Given the description of an element on the screen output the (x, y) to click on. 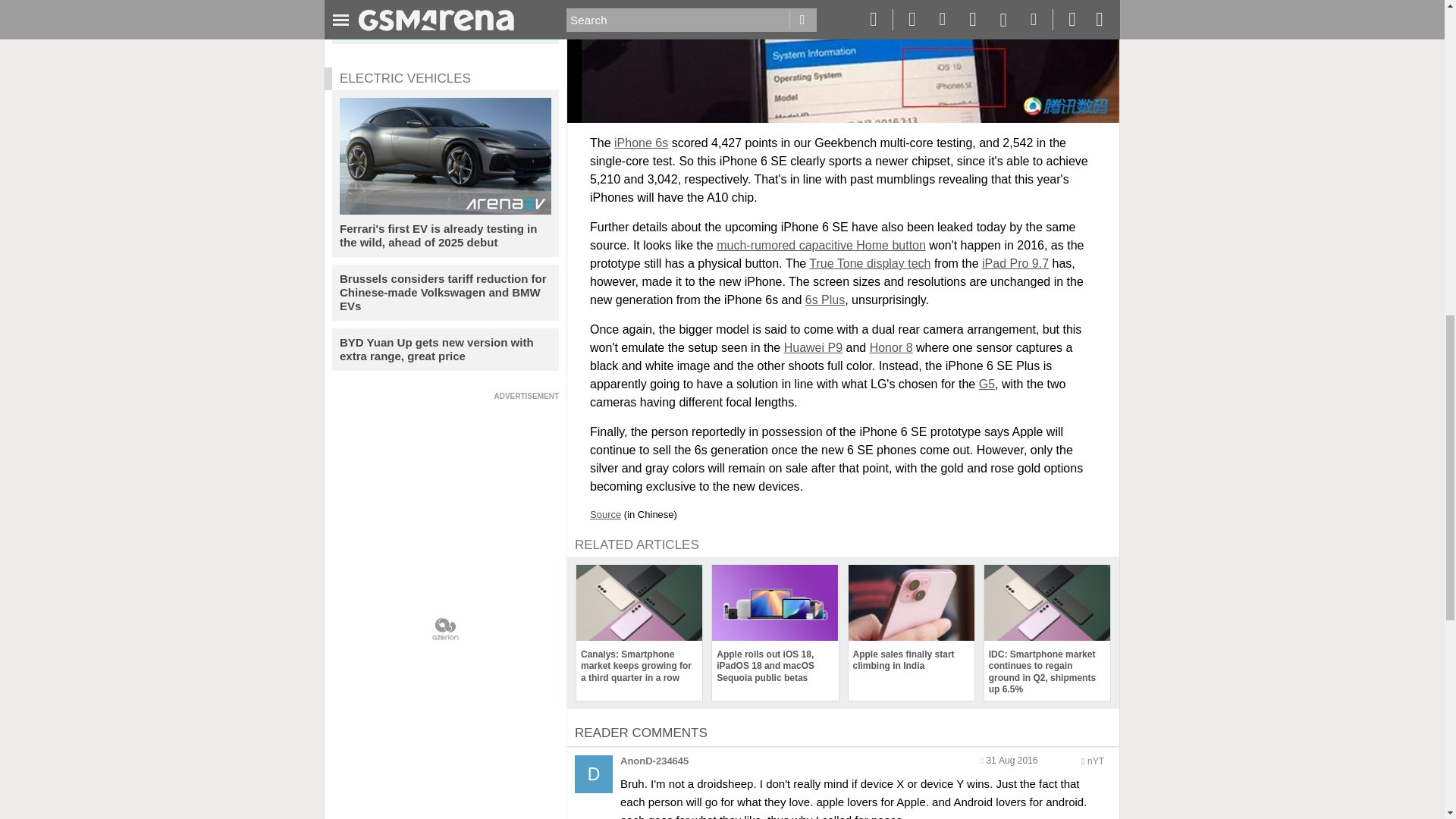
Encoded anonymized location (1095, 760)
